Given the description of an element on the screen output the (x, y) to click on. 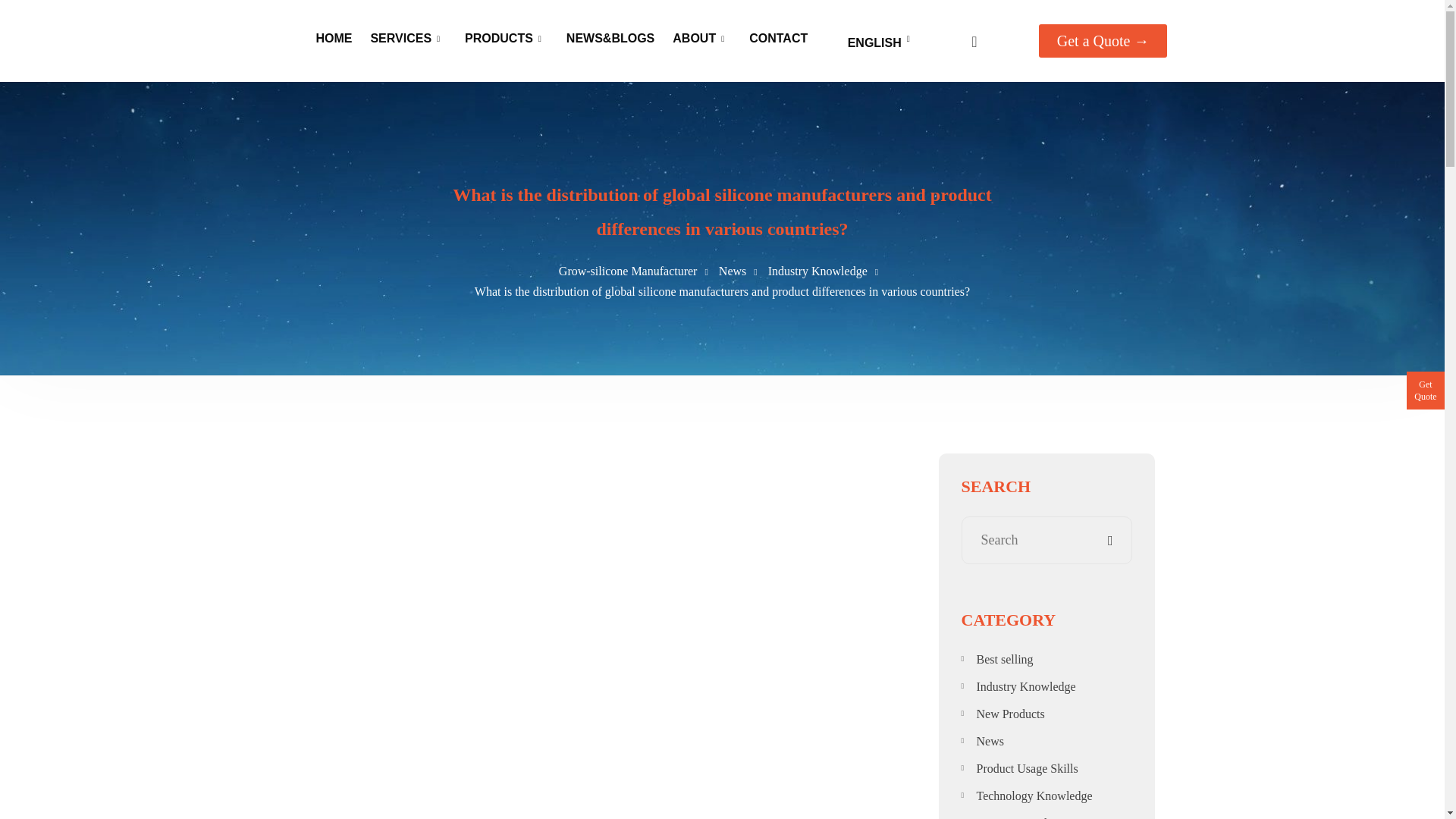
Contact Us (778, 38)
CONTACT (778, 38)
Custom Silicone Products Services (399, 38)
SERVICES (399, 38)
About Grow-Silicone (694, 38)
ABOUT (694, 38)
Top wholesale custom silicone products manufacturer (252, 40)
PRODUCTS (498, 38)
HOME (333, 38)
One-Stop Service For Custom Silicone Products (333, 38)
